Given the description of an element on the screen output the (x, y) to click on. 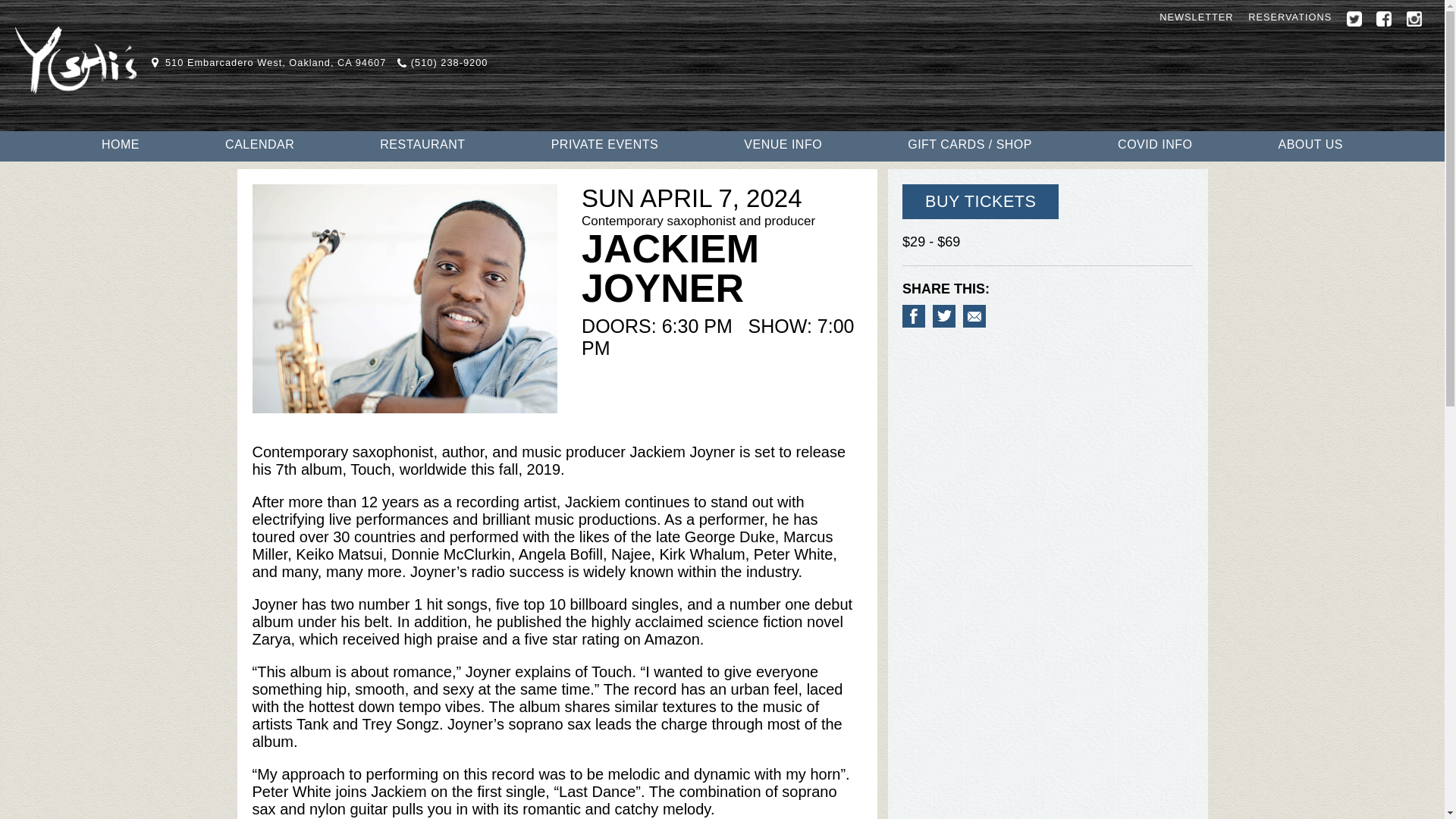
BUY TICKETS (980, 201)
NEWSLETTER (1195, 16)
ABOUT US (1310, 144)
PRIVATE EVENTS (605, 144)
510 Embarcadero West, Oakland, CA 94607 (268, 61)
VENUE INFO (783, 144)
RESERVATIONS (1289, 16)
COVID INFO (1155, 144)
CALENDAR (259, 144)
HOME (120, 144)
RESTAURANT (422, 144)
